Given the description of an element on the screen output the (x, y) to click on. 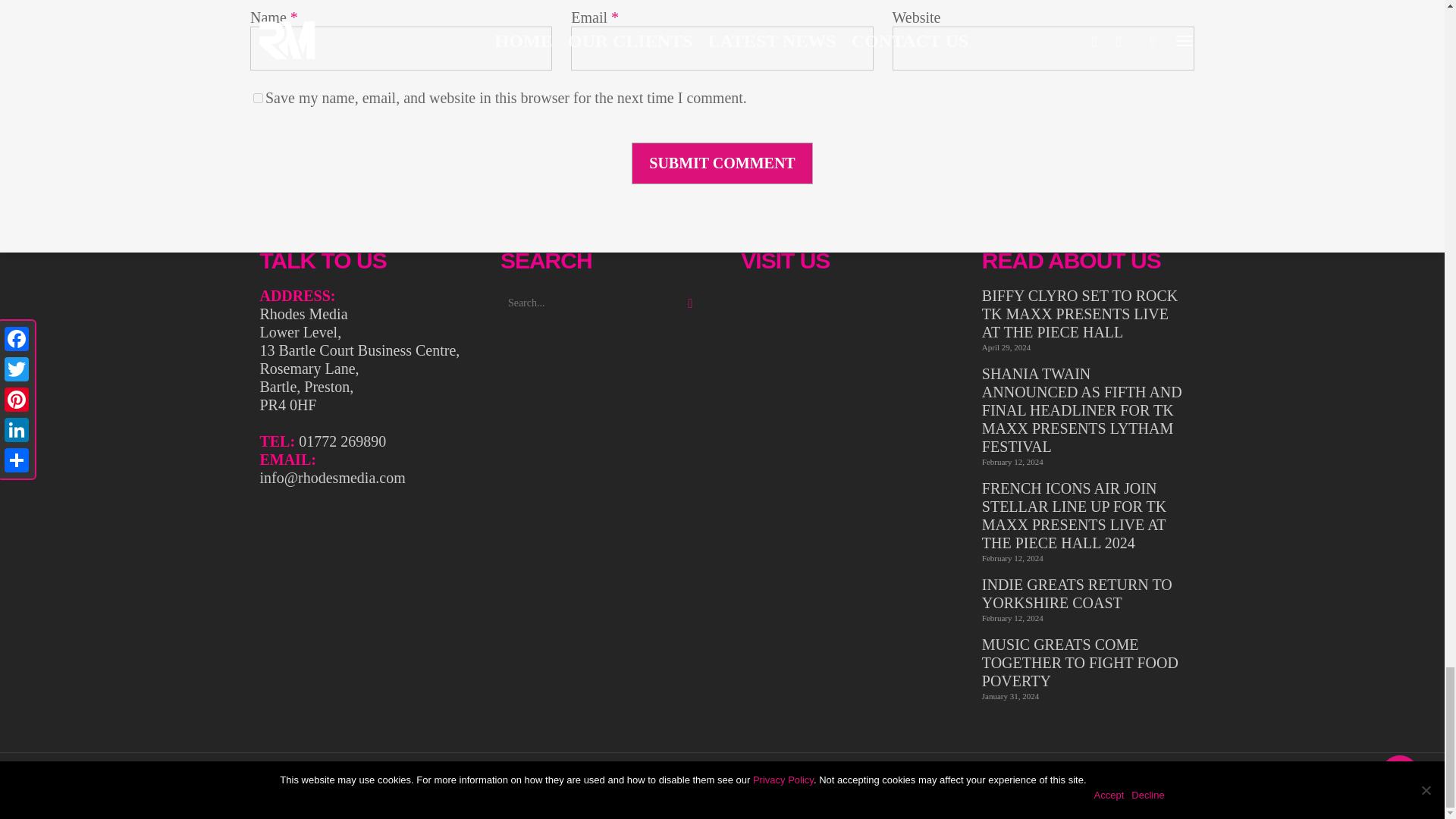
yes (258, 98)
Submit Comment (721, 163)
